Given the description of an element on the screen output the (x, y) to click on. 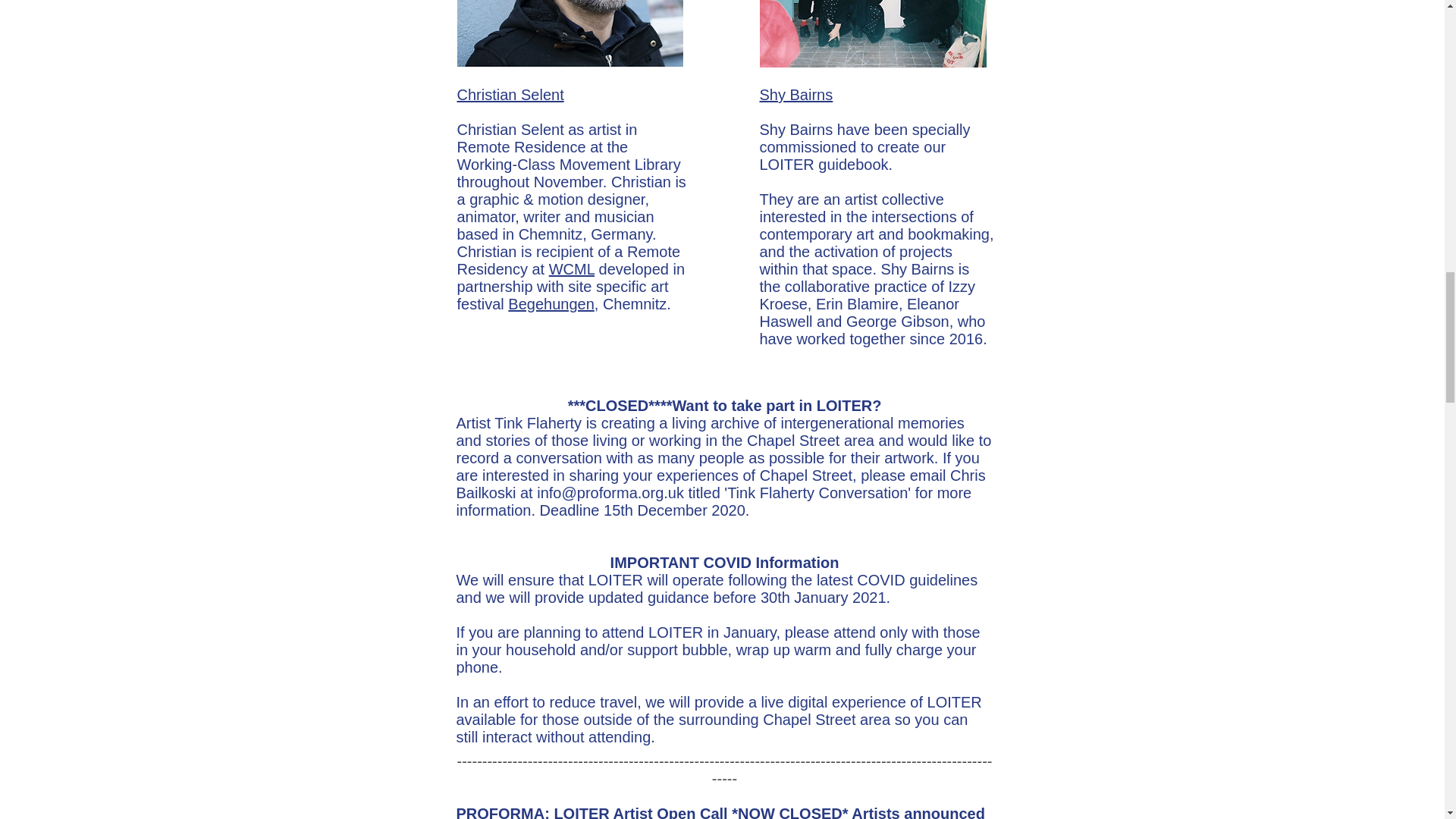
C (462, 94)
Begehungen (551, 303)
hy Bairns (801, 94)
S (765, 94)
hristian Selent (515, 94)
WCML (571, 269)
